Given the description of an element on the screen output the (x, y) to click on. 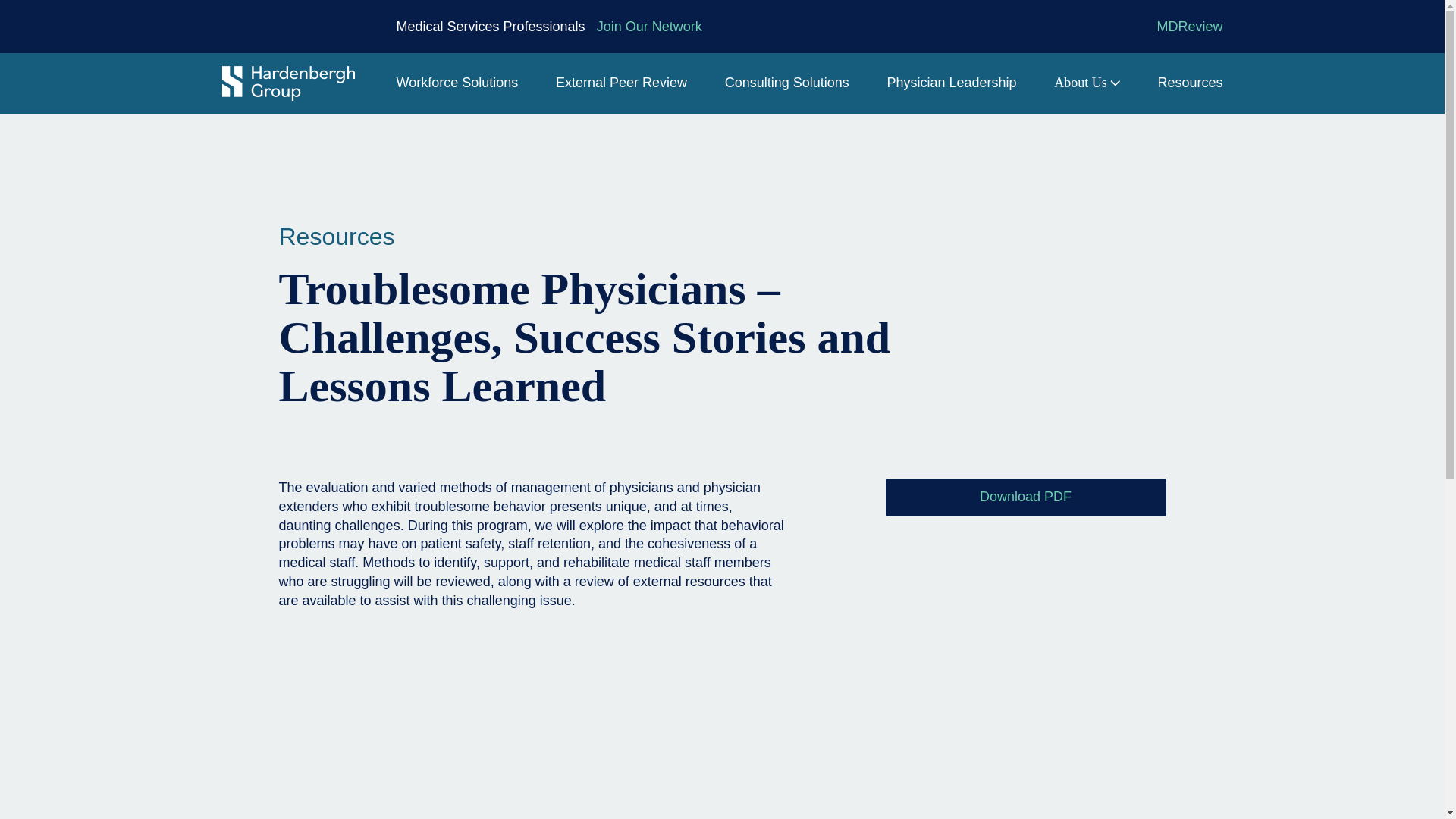
Join Our Network (648, 26)
Physician Leadership (951, 83)
About Us (1086, 83)
YouTube video player (533, 724)
Resources (336, 236)
External Peer Review (621, 83)
Download PDF (1025, 497)
Consulting Solutions (786, 83)
Resources (1190, 83)
MDReview (1189, 26)
Workforce Solutions (457, 83)
